Given the description of an element on the screen output the (x, y) to click on. 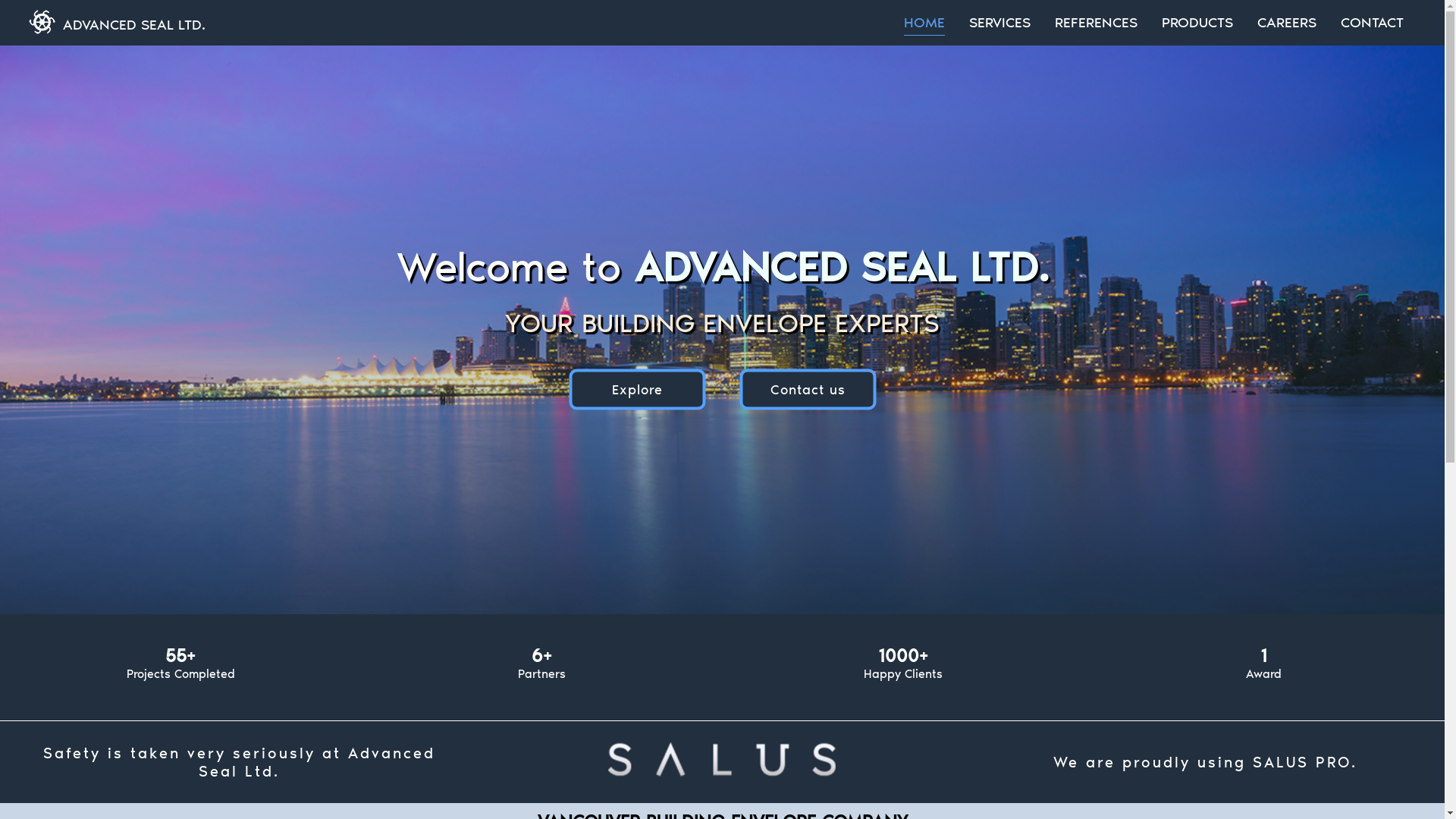
CAREERS Element type: text (1286, 20)
Contact us Element type: text (807, 389)
Explore Element type: text (636, 388)
SERVICES Element type: text (999, 20)
PRODUCTS Element type: text (1197, 20)
CONTACT Element type: text (1371, 20)
Explore Element type: text (636, 388)
Contact us Element type: text (807, 388)
REFERENCES Element type: text (1095, 20)
HOME Element type: text (923, 20)
ADVANCED SEAL LTD. Element type: text (133, 24)
